Given the description of an element on the screen output the (x, y) to click on. 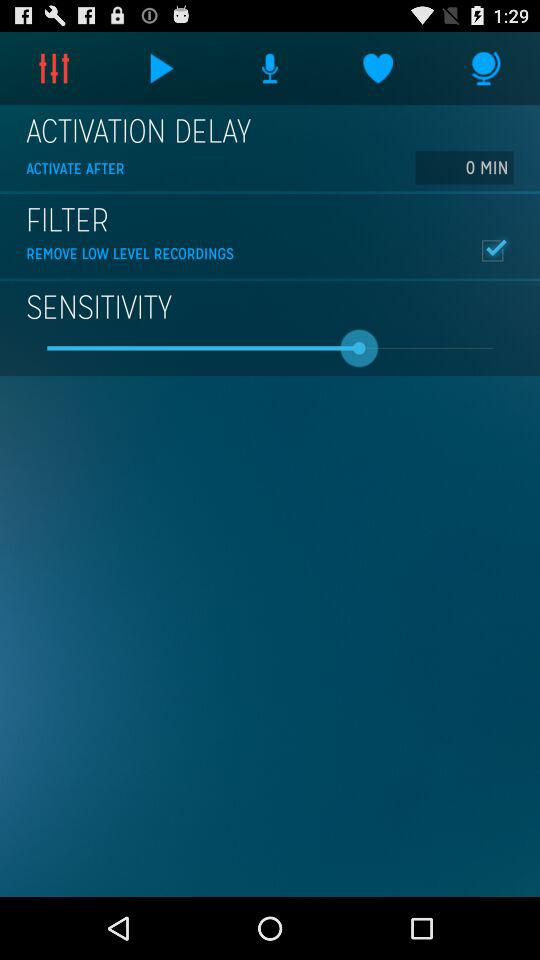
turn off icon to the right of activate after icon (464, 167)
